Given the description of an element on the screen output the (x, y) to click on. 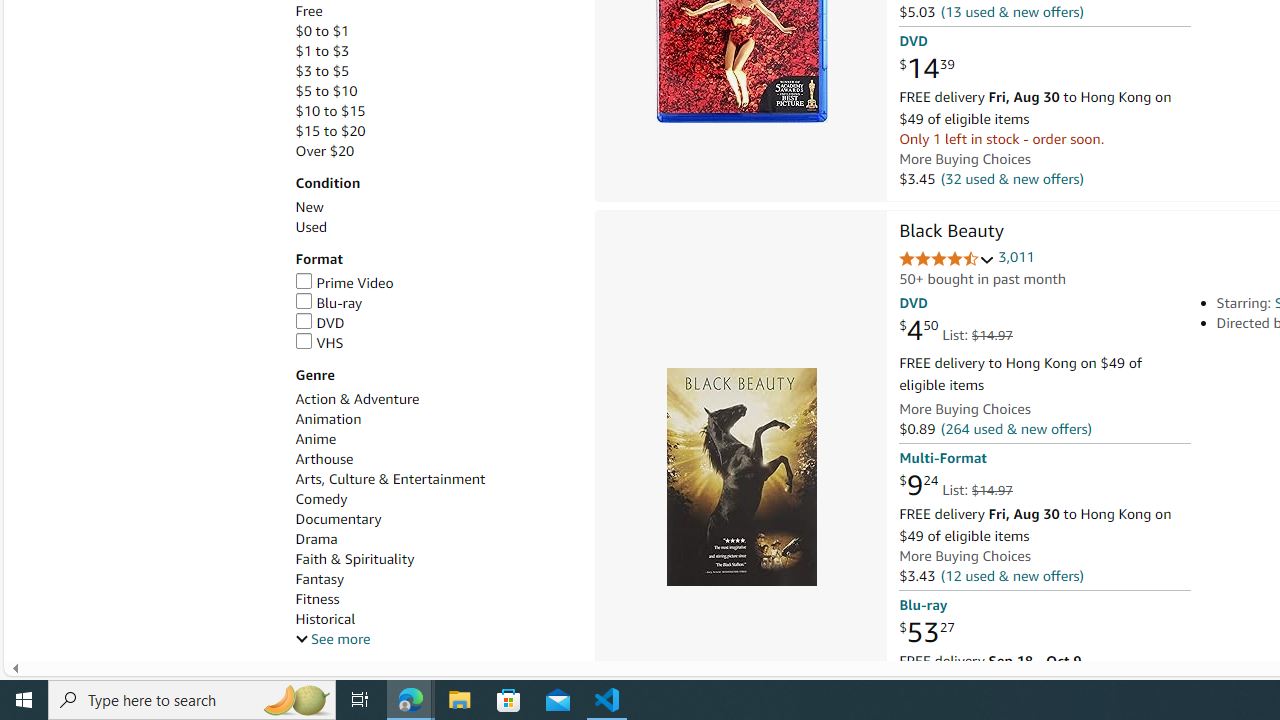
VHS (434, 343)
$53.27 (926, 632)
Fantasy (434, 579)
Documentary (434, 519)
3,011 (1016, 257)
Fitness (434, 599)
Go back to filtering menu (84, 651)
Anime (315, 439)
New (434, 207)
$14.39 (926, 69)
Comedy (434, 499)
Blu-ray (328, 303)
Prime Video (434, 283)
New (308, 207)
$1 to $3 (434, 51)
